Given the description of an element on the screen output the (x, y) to click on. 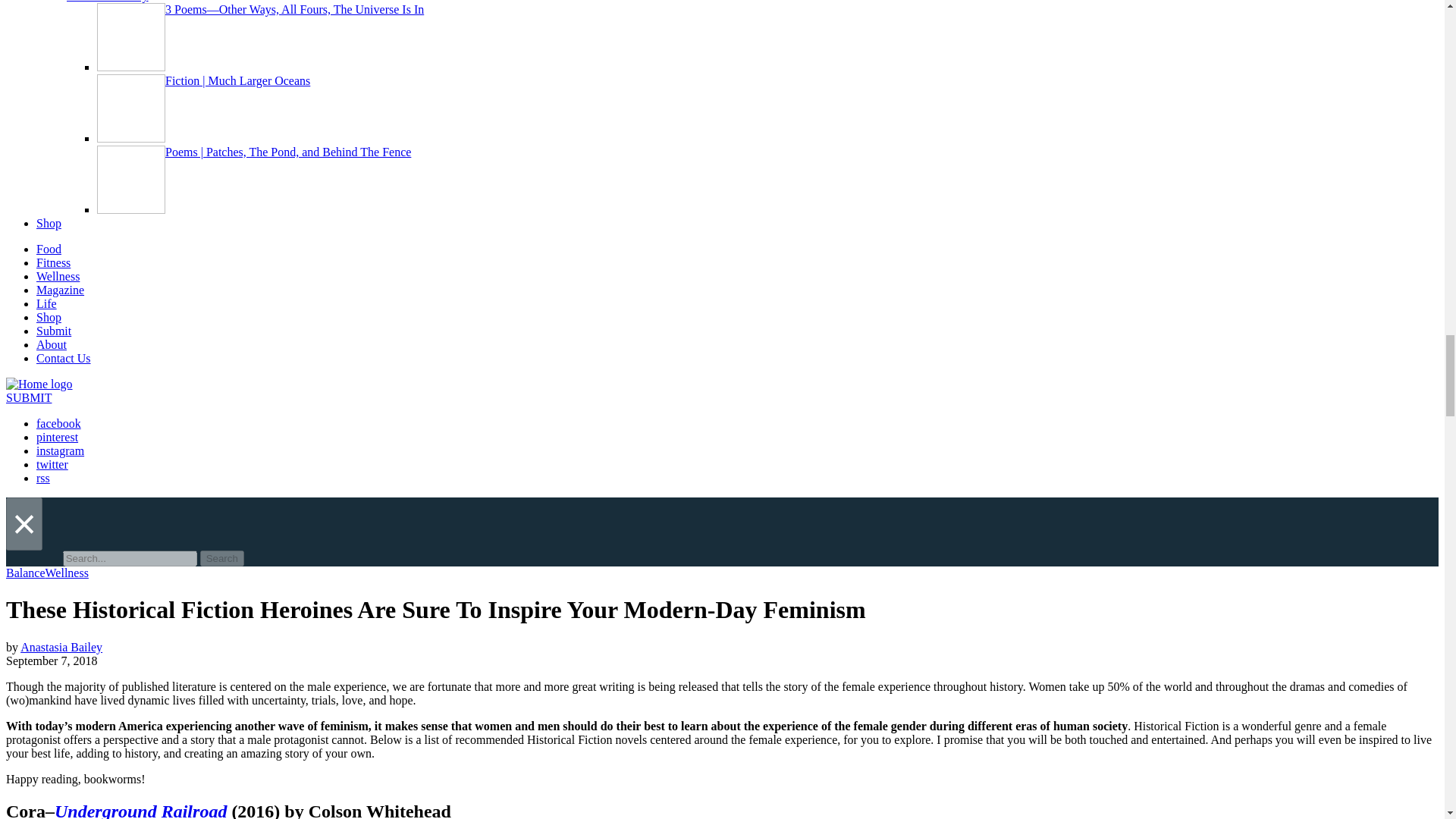
Search (222, 558)
